Given the description of an element on the screen output the (x, y) to click on. 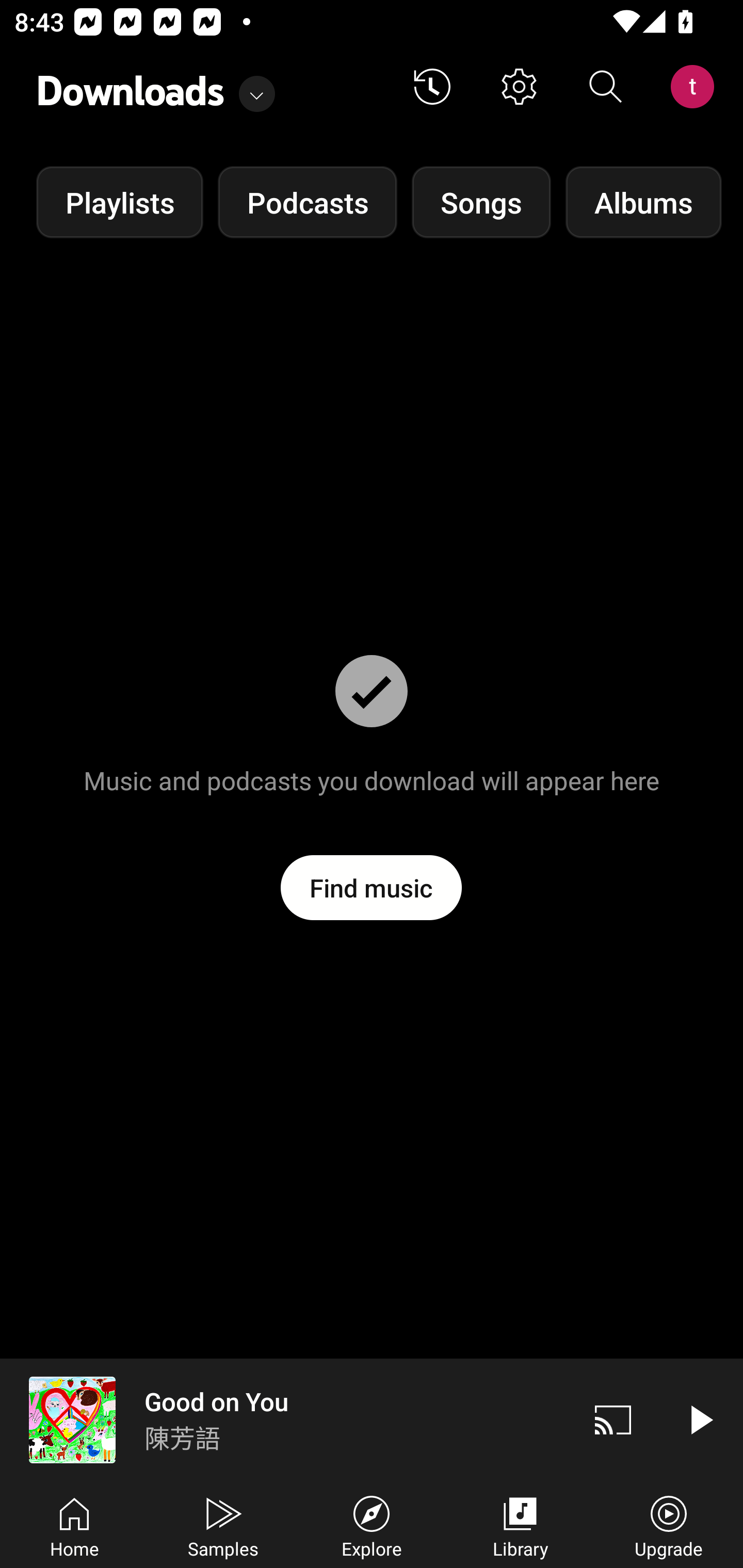
Show downloads selected Downloads (155, 86)
History (432, 86)
Downloads settings (518, 86)
Search (605, 86)
Account (696, 86)
Find music (371, 887)
Good on You 陳芳語 (284, 1419)
Cast. Disconnected (612, 1419)
Play video (699, 1419)
Home (74, 1524)
Samples (222, 1524)
Explore (371, 1524)
Upgrade (668, 1524)
